Given the description of an element on the screen output the (x, y) to click on. 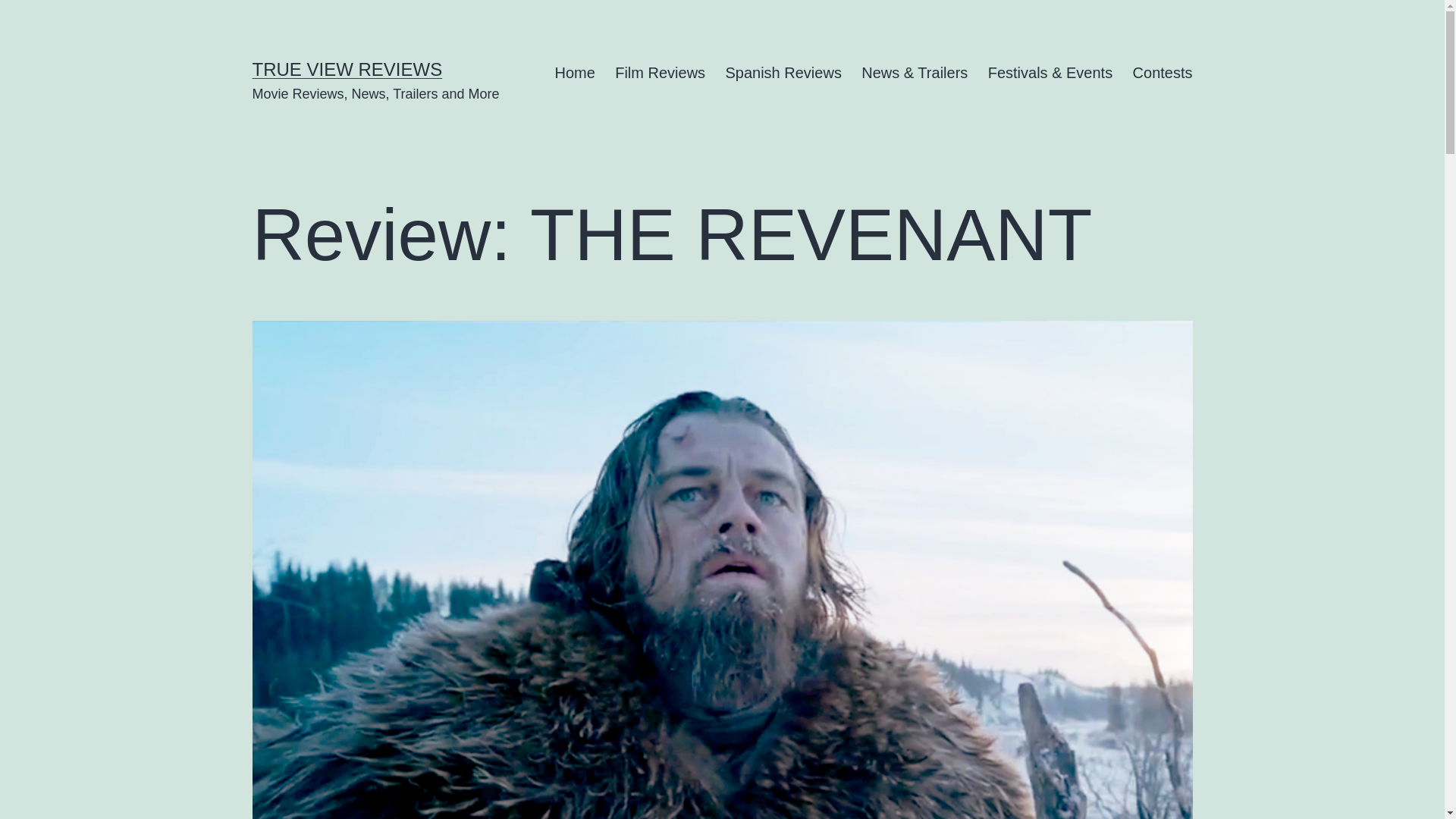
Home (574, 72)
Contests (1162, 72)
Spanish Reviews (782, 72)
TRUE VIEW REVIEWS (346, 68)
Film Reviews (659, 72)
